Given the description of an element on the screen output the (x, y) to click on. 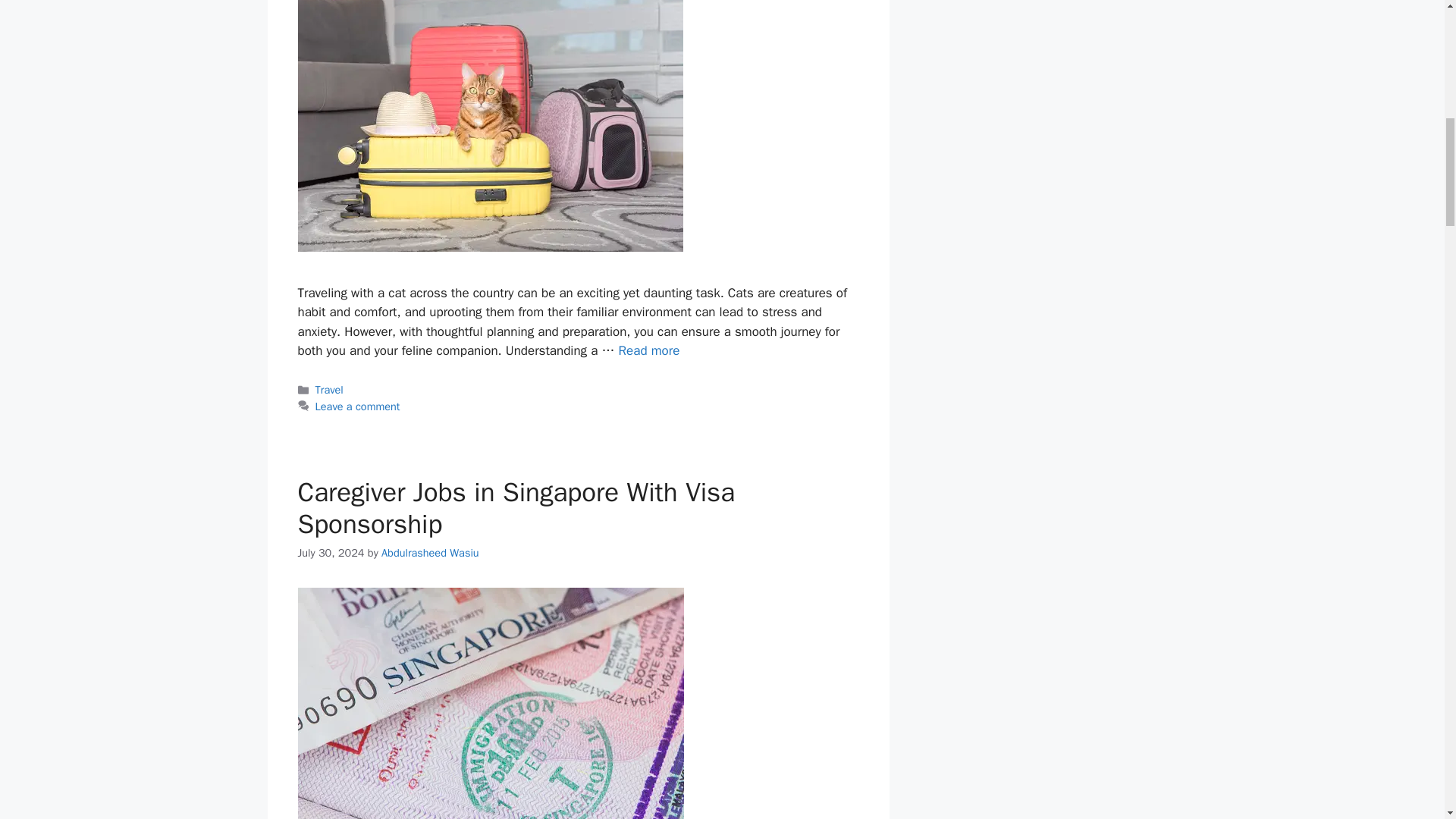
Caregiver Jobs in Singapore With Visa Sponsorship (516, 507)
Leave a comment (357, 406)
Travel (329, 389)
Abdulrasheed Wasiu (430, 552)
How to Travel With a Cat Across Country (648, 350)
Read more (648, 350)
View all posts by Abdulrasheed Wasiu (430, 552)
